Given the description of an element on the screen output the (x, y) to click on. 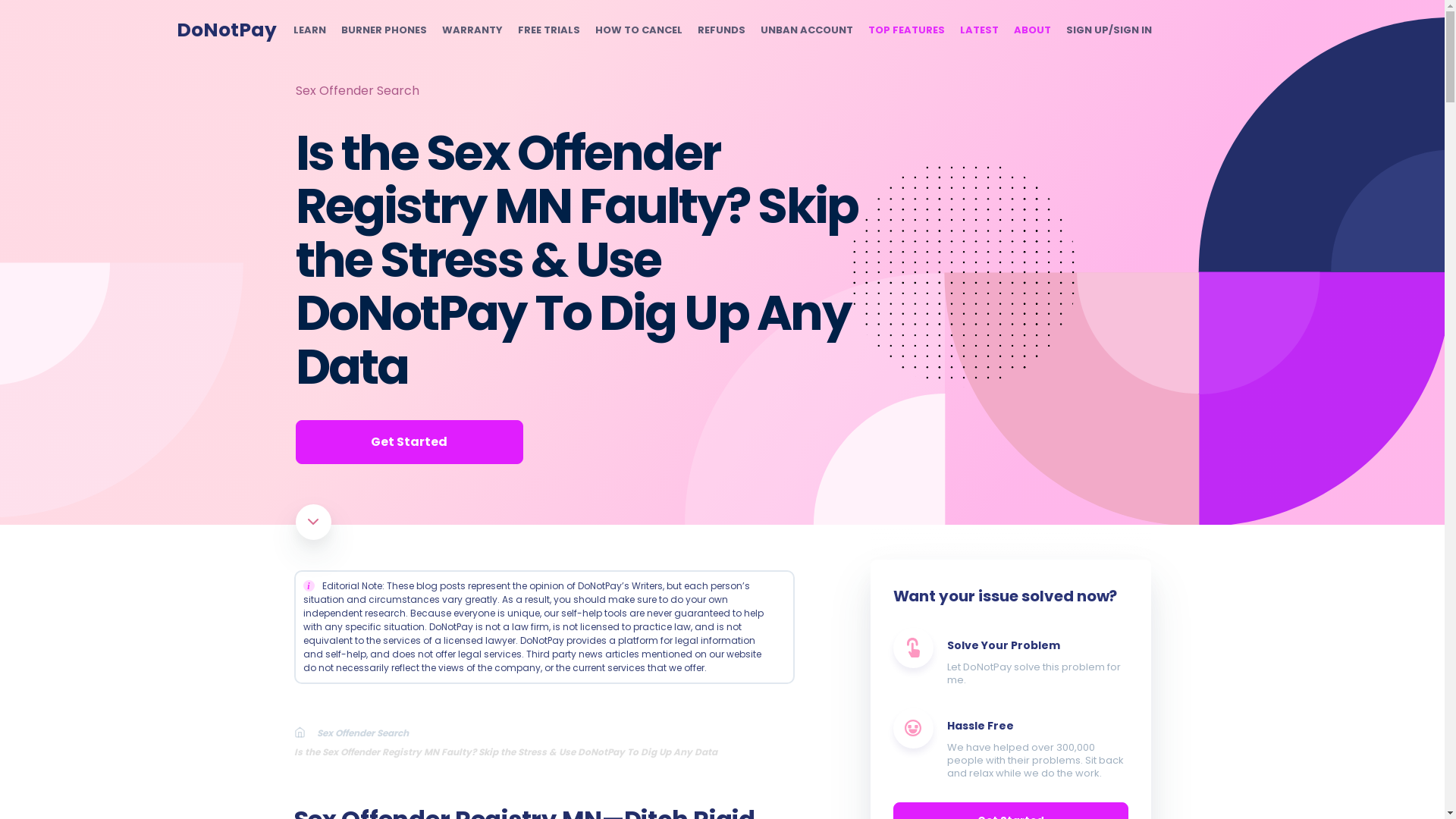
TOP FEATURES (905, 29)
Sex Offender Search (357, 90)
Get Started (408, 442)
DoNotPay (226, 29)
LATEST (978, 29)
LEARN (308, 29)
HOW TO CANCEL (637, 29)
ABOUT (1031, 29)
Sex Offender Search (368, 732)
WARRANTY (471, 29)
